Given the description of an element on the screen output the (x, y) to click on. 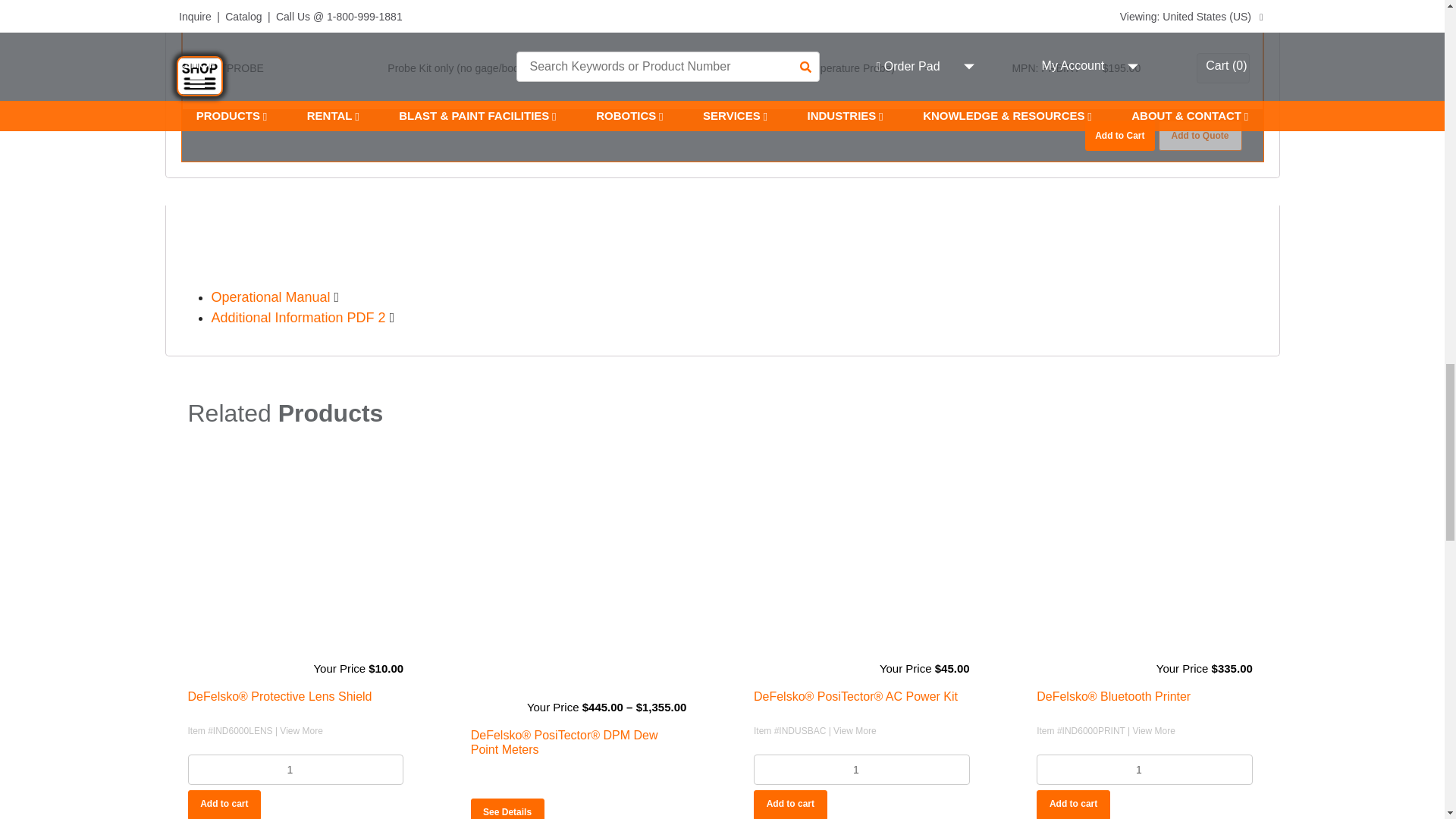
1 (295, 769)
1 (1144, 769)
1 (861, 769)
